Given the description of an element on the screen output the (x, y) to click on. 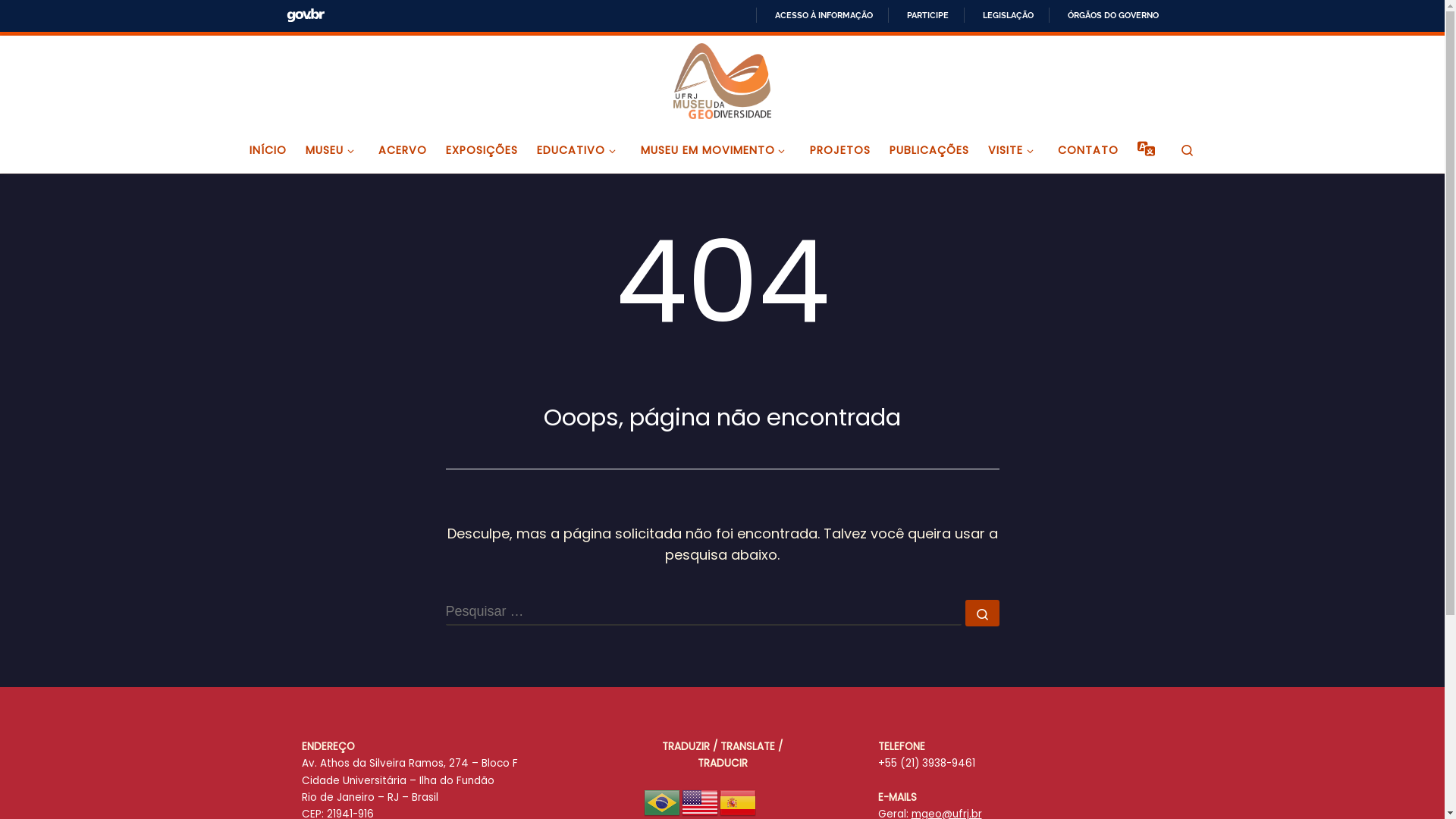
ACERVO Element type: text (402, 150)
PROJETOS Element type: text (840, 150)
English Element type: hover (700, 801)
VISITE Element type: text (1013, 150)
Skip to content Element type: text (64, 22)
Portuguese Element type: hover (662, 801)
CONTATO Element type: text (1088, 150)
MUSEU EM MOVIMENTO Element type: text (715, 150)
PARTICIPE Element type: text (920, 14)
MUSEU Element type: text (332, 150)
EDUCATIVO Element type: text (579, 150)
TRANSLATE Element type: text (1146, 150)
Search Element type: text (1186, 149)
GOVBR Element type: text (305, 14)
Spanish Element type: hover (738, 801)
